Given the description of an element on the screen output the (x, y) to click on. 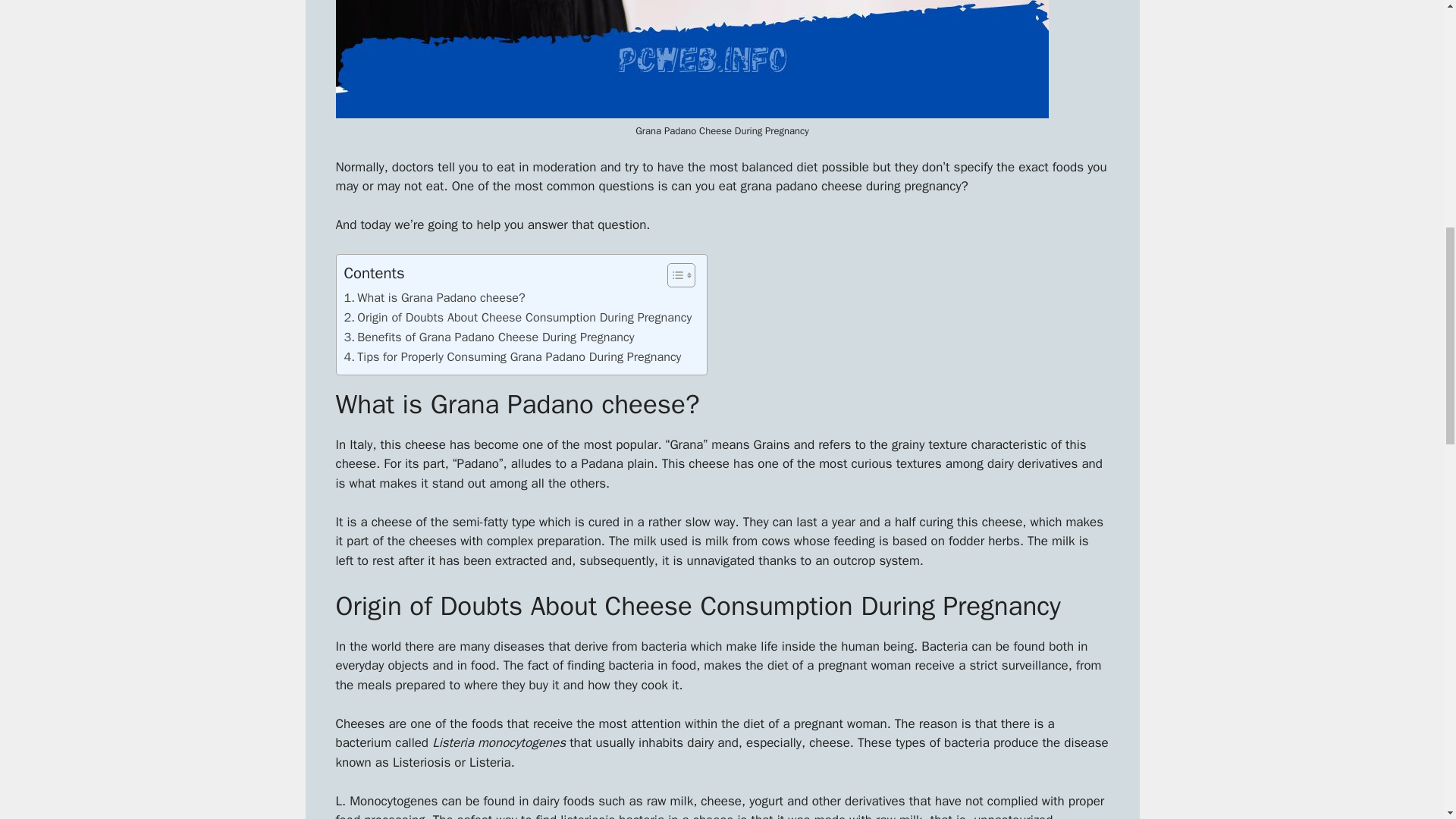
Grana Padano Cheese During Pregnancy 1 (691, 58)
Origin of Doubts About Cheese Consumption During Pregnancy (518, 317)
Benefits of Grana Padano Cheese During Pregnancy (488, 337)
Tips for Properly Consuming Grana Padano During Pregnancy (512, 356)
Tips for Properly Consuming Grana Padano During Pregnancy (512, 356)
Origin of Doubts About Cheese Consumption During Pregnancy (518, 317)
What is Grana Padano cheese? (434, 297)
What is Grana Padano cheese? (434, 297)
Benefits of Grana Padano Cheese During Pregnancy (488, 337)
